Given the description of an element on the screen output the (x, y) to click on. 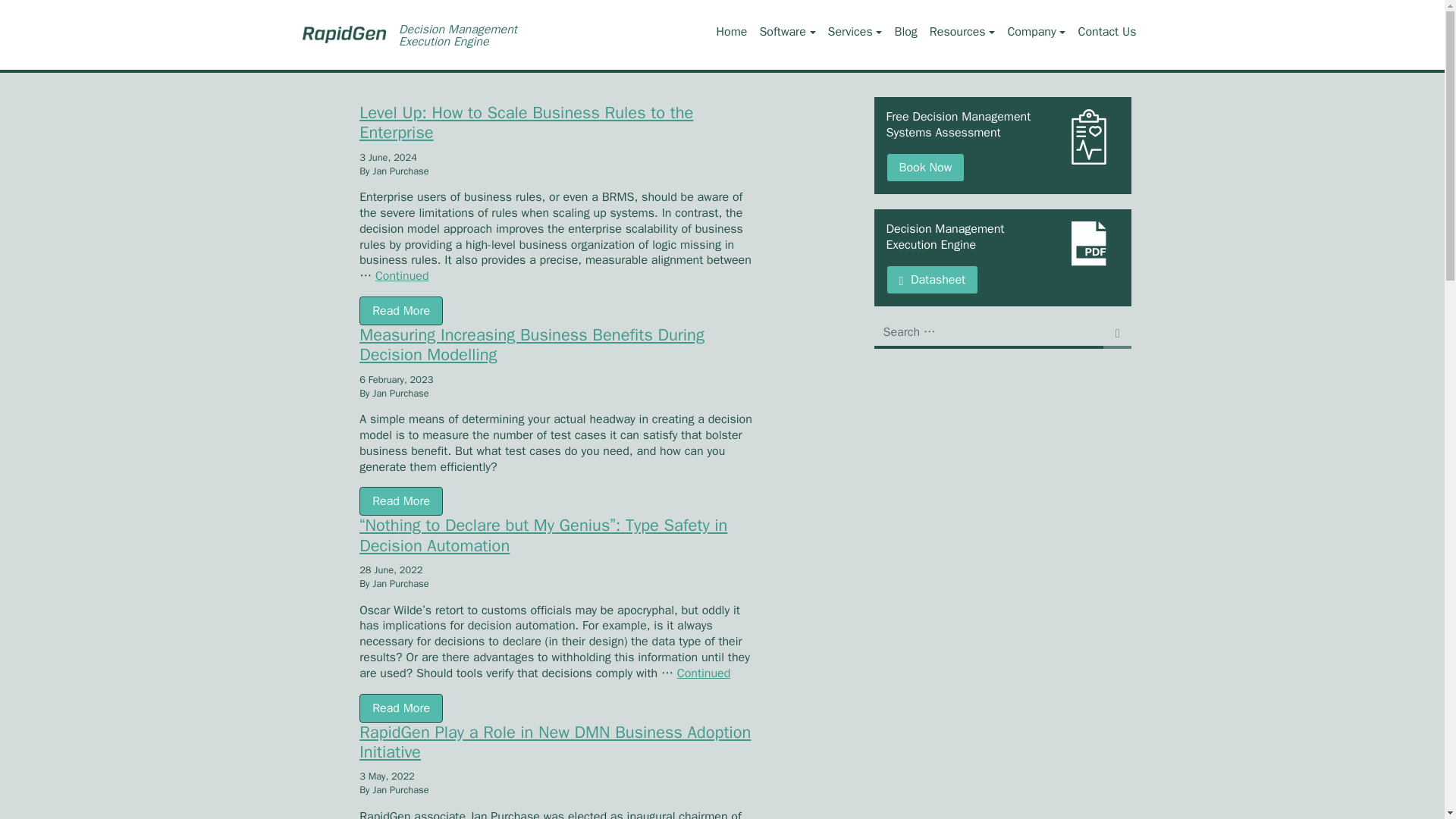
Continued (402, 275)
Contact Us (1106, 31)
Read More (400, 500)
Resources (962, 31)
Search for: (987, 333)
Services (855, 31)
Continued (703, 672)
Home (732, 31)
Read More (400, 707)
Level Up: How to Scale Business Rules to the Enterprise (558, 133)
Company (1036, 31)
Software (786, 31)
Blog (905, 31)
RapidGen Play a Role in New DMN Business Adoption Initiative (558, 752)
Read More (400, 310)
